Given the description of an element on the screen output the (x, y) to click on. 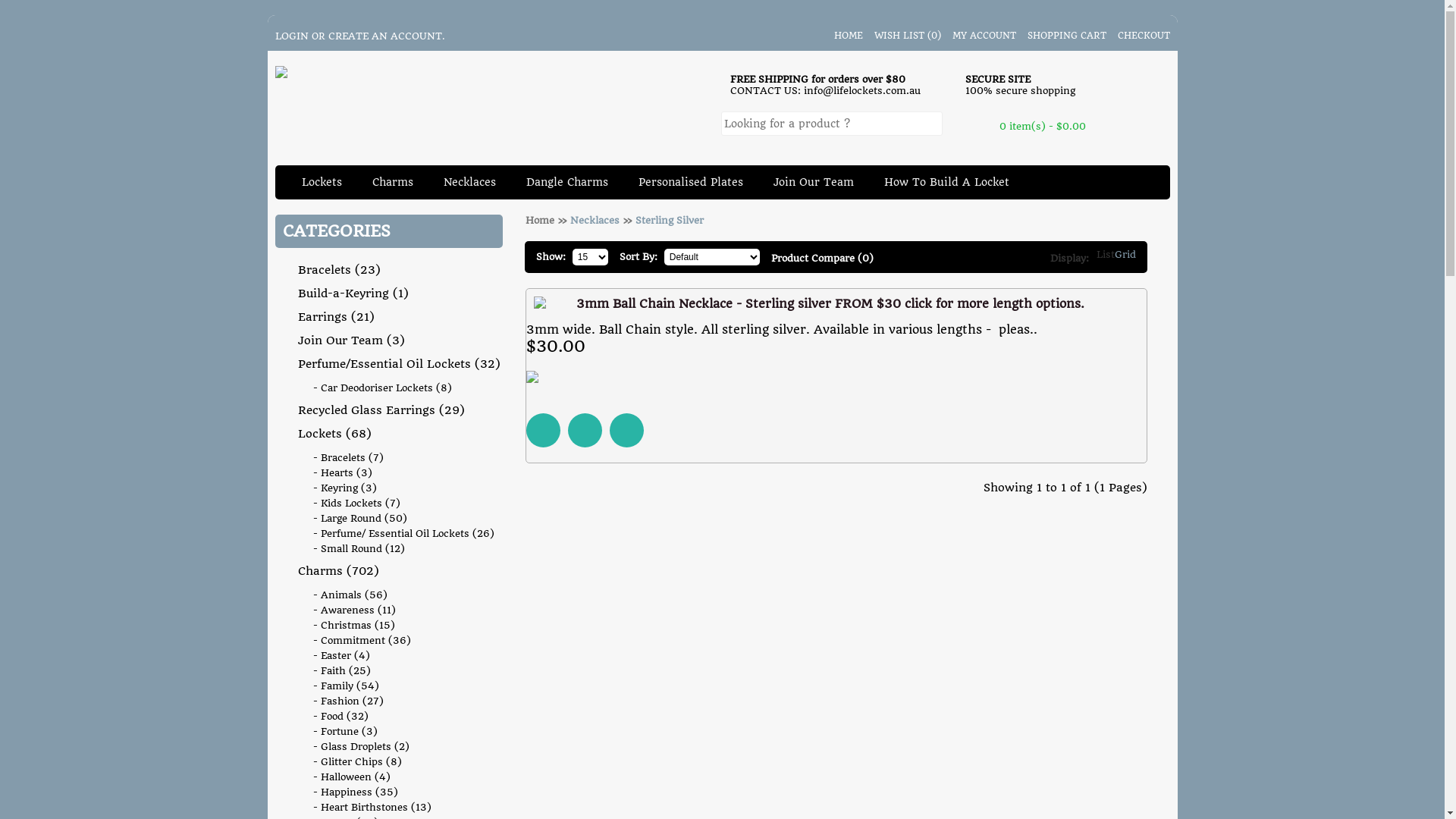
WISH LIST (0) Element type: text (905, 35)
0 item(s) - $0.00 Element type: text (1048, 125)
- Fortune (3) Element type: text (405, 731)
LOGIN Element type: text (290, 35)
Personalised Plates Element type: text (690, 182)
Dangle Charms Element type: text (567, 182)
Charms (702) Element type: text (399, 570)
Recycled Glass Earrings (29) Element type: text (399, 410)
HOME Element type: text (845, 35)
- Animals (56) Element type: text (405, 594)
Join Our Team Element type: text (813, 182)
- Family (54) Element type: text (405, 685)
Add to Wish List Element type: hover (584, 429)
- Easter (4) Element type: text (405, 655)
Earrings (21) Element type: text (399, 316)
Add to Compare Element type: hover (626, 429)
Perfume/Essential Oil Lockets (32) Element type: text (399, 363)
- Glitter Chips (8) Element type: text (405, 761)
Bracelets (23) Element type: text (399, 269)
How To Build A Locket Element type: text (946, 182)
MY ACCOUNT Element type: text (980, 35)
Necklaces Element type: text (468, 182)
Lockets Element type: text (321, 182)
- Small Round (12) Element type: text (405, 548)
Join Our Team (3) Element type: text (399, 340)
Necklaces Element type: text (594, 219)
- Glass Droplets (2) Element type: text (405, 746)
- Kids Lockets (7) Element type: text (405, 502)
- Hearts (3) Element type: text (405, 472)
Sterling Silver Element type: text (669, 219)
- Faith (25) Element type: text (405, 670)
Build-a-Keyring (1) Element type: text (399, 293)
- Perfume/ Essential Oil Lockets (26) Element type: text (405, 533)
Home Element type: text (538, 219)
- Keyring (3) Element type: text (405, 487)
- Awareness (11) Element type: text (405, 609)
- Car Deodoriser Lockets (8) Element type: text (405, 387)
- Bracelets (7) Element type: text (405, 457)
Grid Element type: text (1124, 254)
Product Compare (0) Element type: text (822, 257)
- Commitment (36) Element type: text (405, 640)
Charms Element type: text (391, 182)
- Large Round (50) Element type: text (405, 518)
- Fashion (27) Element type: text (405, 700)
- Happiness (35) Element type: text (405, 791)
Add to Cart Element type: hover (542, 429)
CHECKOUT Element type: text (1140, 35)
- Christmas (15) Element type: text (405, 624)
SHOPPING CART Element type: text (1064, 35)
- Heart Birthstones (13) Element type: text (405, 806)
Life Lockets Australia Element type: hover (280, 71)
CREATE AN ACCOUNT Element type: text (384, 35)
- Food (32) Element type: text (405, 715)
- Halloween (4) Element type: text (405, 776)
Lockets (68) Element type: text (399, 433)
